Given the description of an element on the screen output the (x, y) to click on. 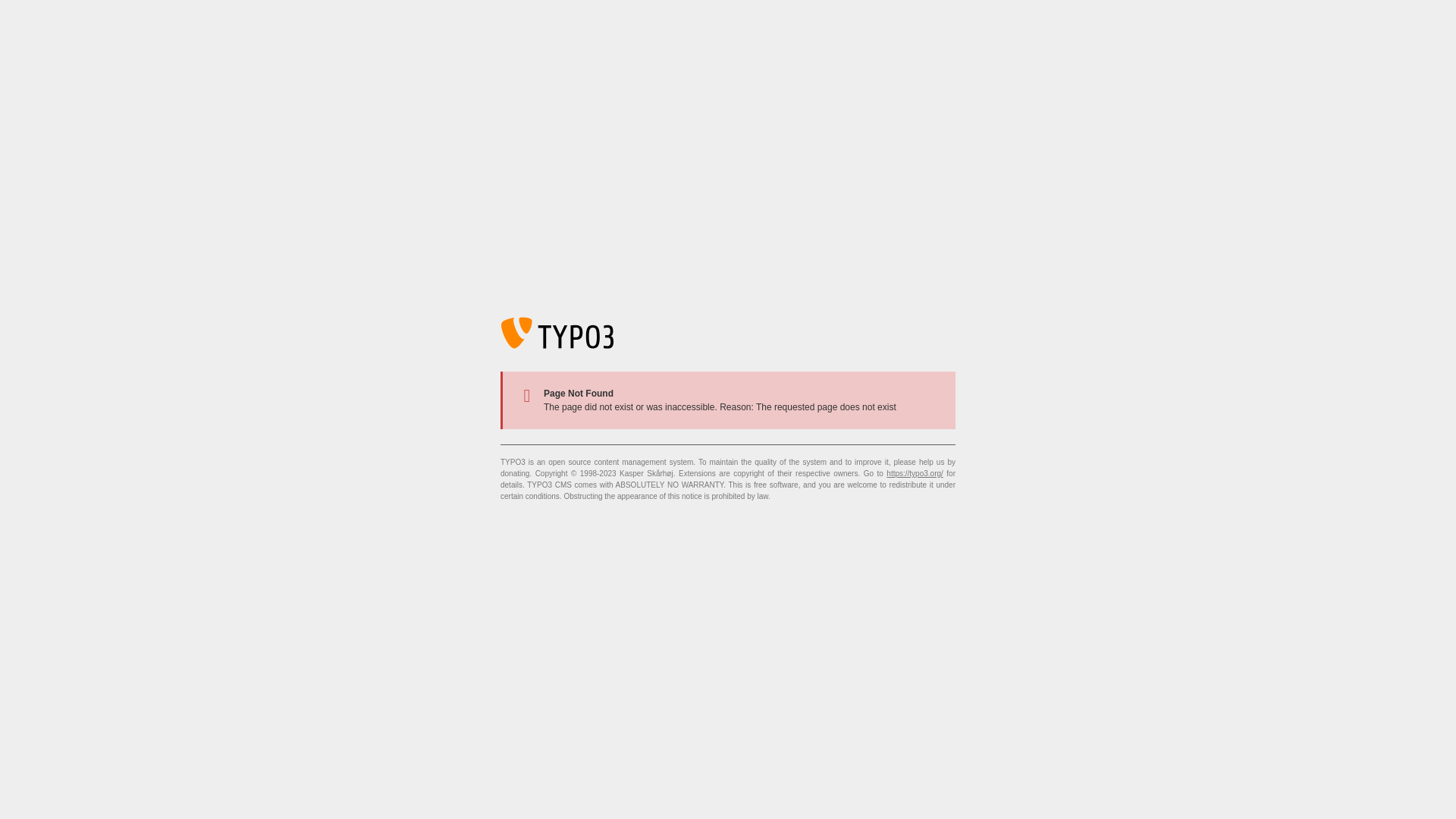
https://typo3.org/ Element type: text (914, 473)
